Given the description of an element on the screen output the (x, y) to click on. 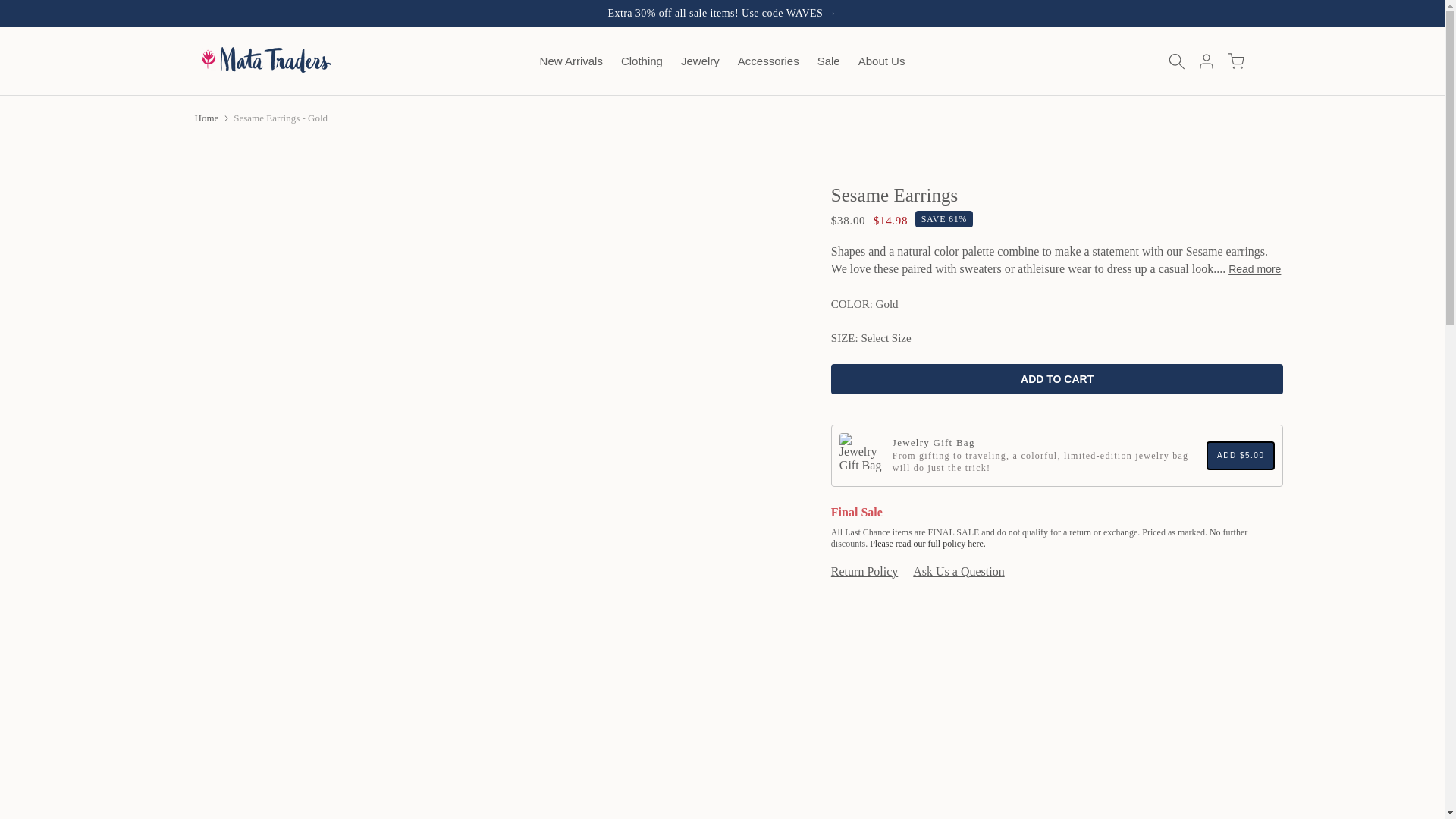
Home (205, 118)
ADD TO CART (1057, 378)
Clothing (641, 60)
Ask Us a Question (958, 571)
Sale (828, 60)
Sale (722, 12)
Jewelry (700, 60)
Return Policy (864, 571)
Accessories (768, 60)
